Given the description of an element on the screen output the (x, y) to click on. 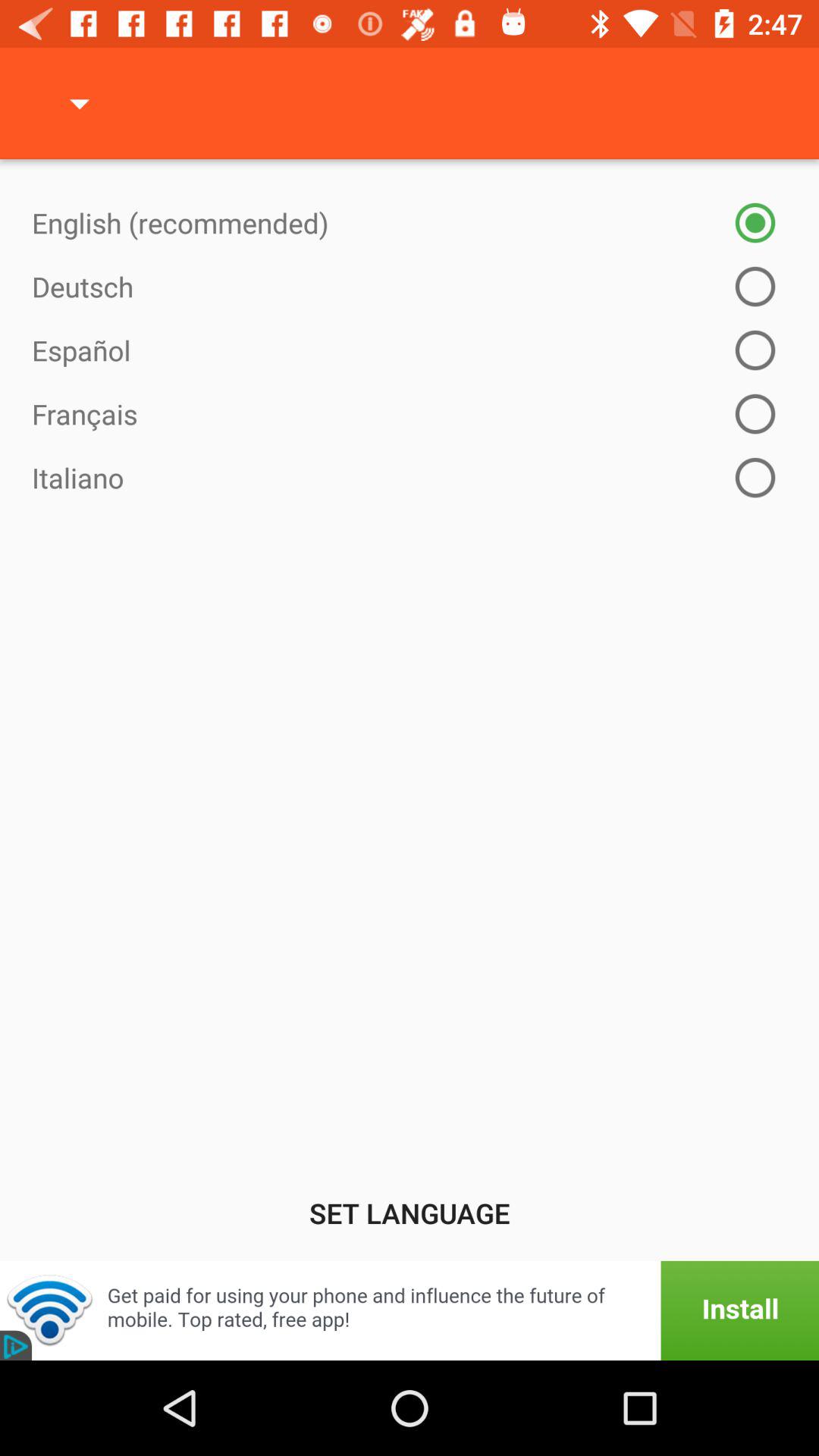
turn off item below set language icon (409, 1310)
